Given the description of an element on the screen output the (x, y) to click on. 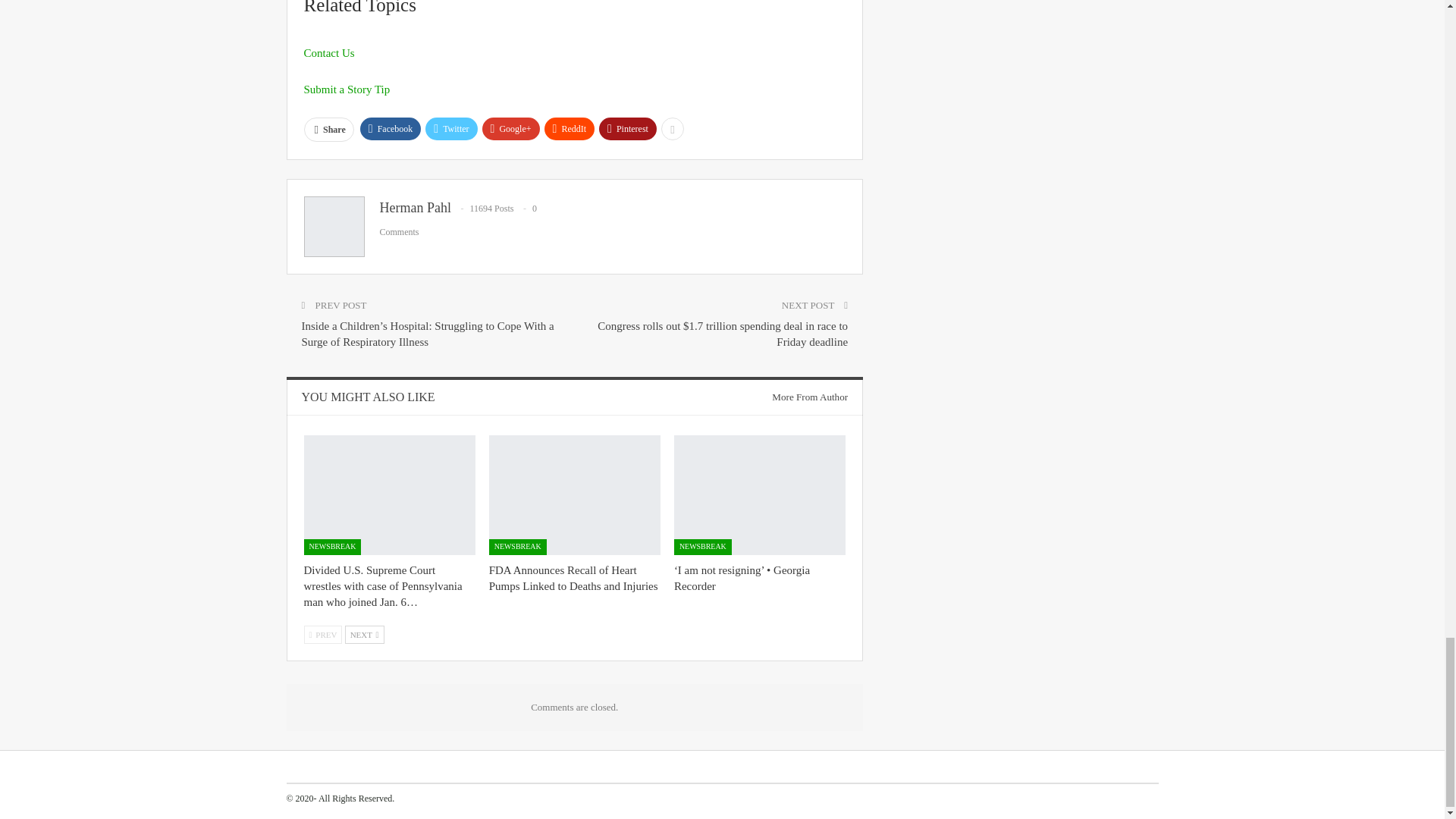
Previous (322, 634)
Next (364, 634)
